Given the description of an element on the screen output the (x, y) to click on. 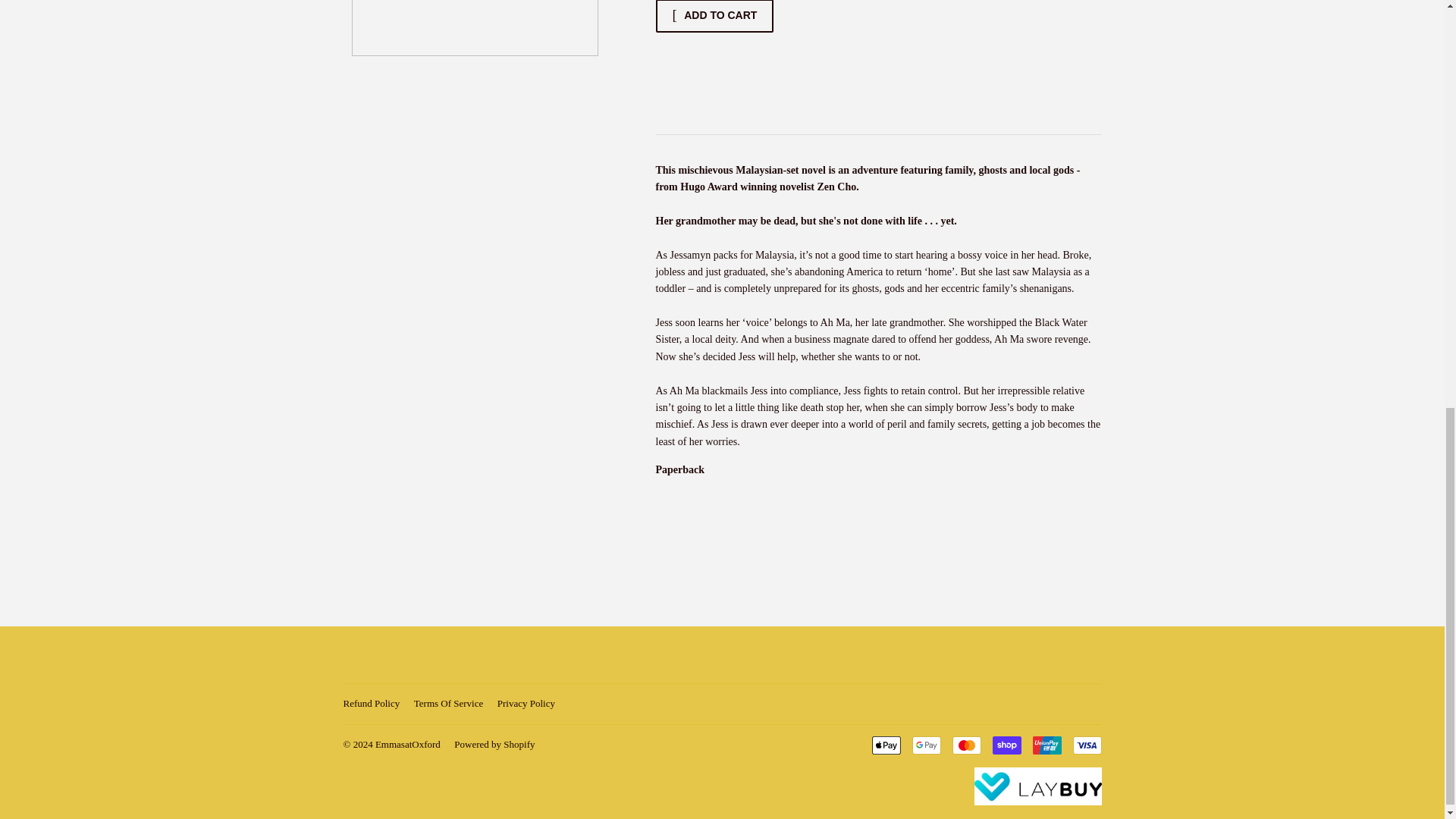
Google Pay (925, 745)
Apple Pay (886, 745)
Union Pay (1046, 745)
Visa (1085, 745)
Mastercard (966, 745)
Shop Pay (1005, 745)
